Given the description of an element on the screen output the (x, y) to click on. 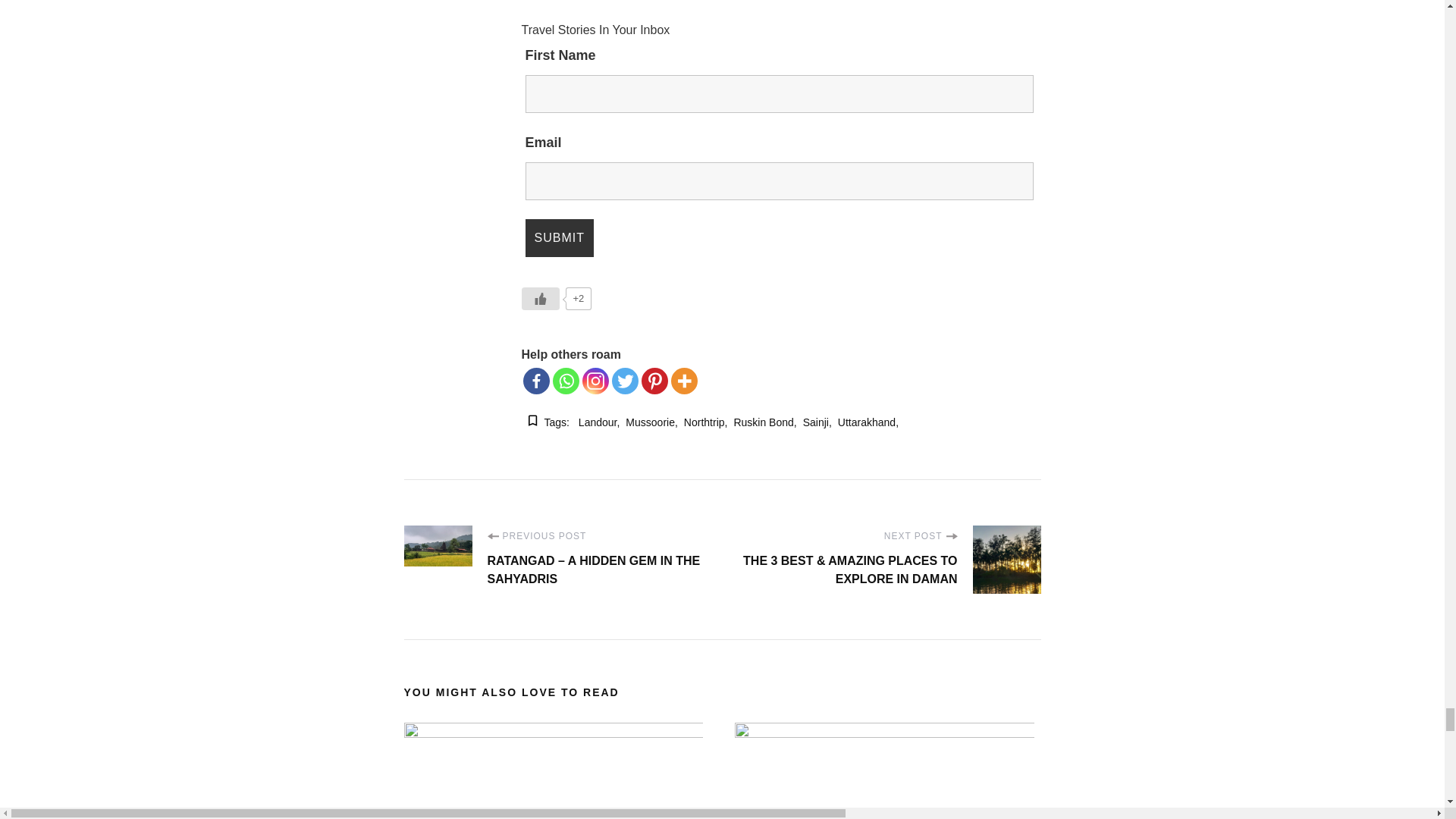
Whatsapp (566, 380)
Facebook (536, 380)
Submit (559, 238)
Pinterest (655, 380)
More (684, 380)
Twitter (625, 380)
Instagram (595, 380)
